Given the description of an element on the screen output the (x, y) to click on. 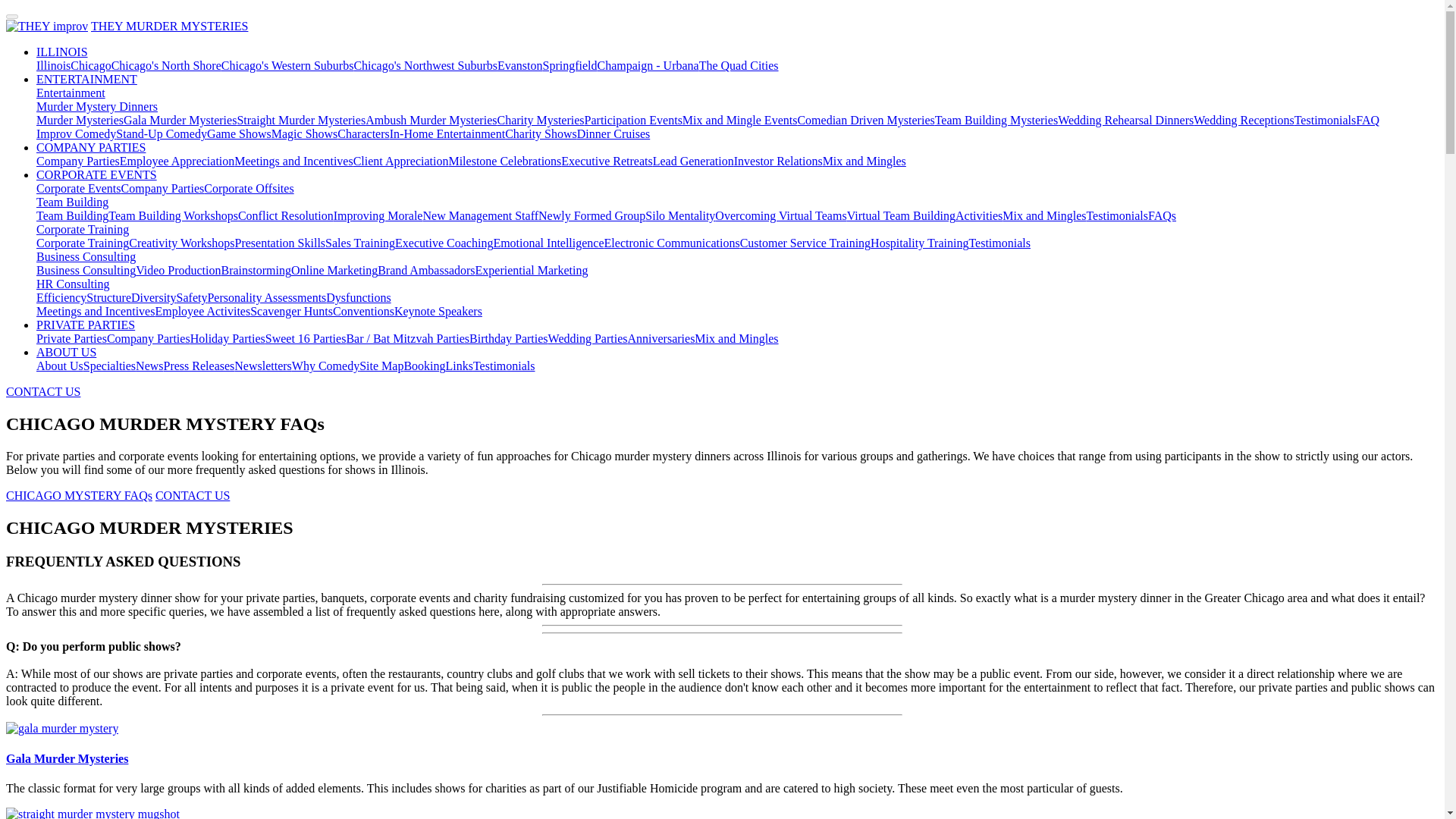
Entertainment (70, 92)
Dinner Cruises (612, 133)
Team Building Mysteries (996, 119)
Participation Events (633, 119)
Wedding Receptions (1243, 119)
In-Home Entertainment (447, 133)
Evanston (520, 65)
FAQ (1366, 119)
straight murder mystery (92, 813)
COMPANY PARTIES (90, 146)
ENTERTAINMENT (86, 78)
Ambush Murder Mysteries (430, 119)
Mix and Mingle Events (739, 119)
Straight Murder Mysteries (300, 119)
Game Shows (238, 133)
